Given the description of an element on the screen output the (x, y) to click on. 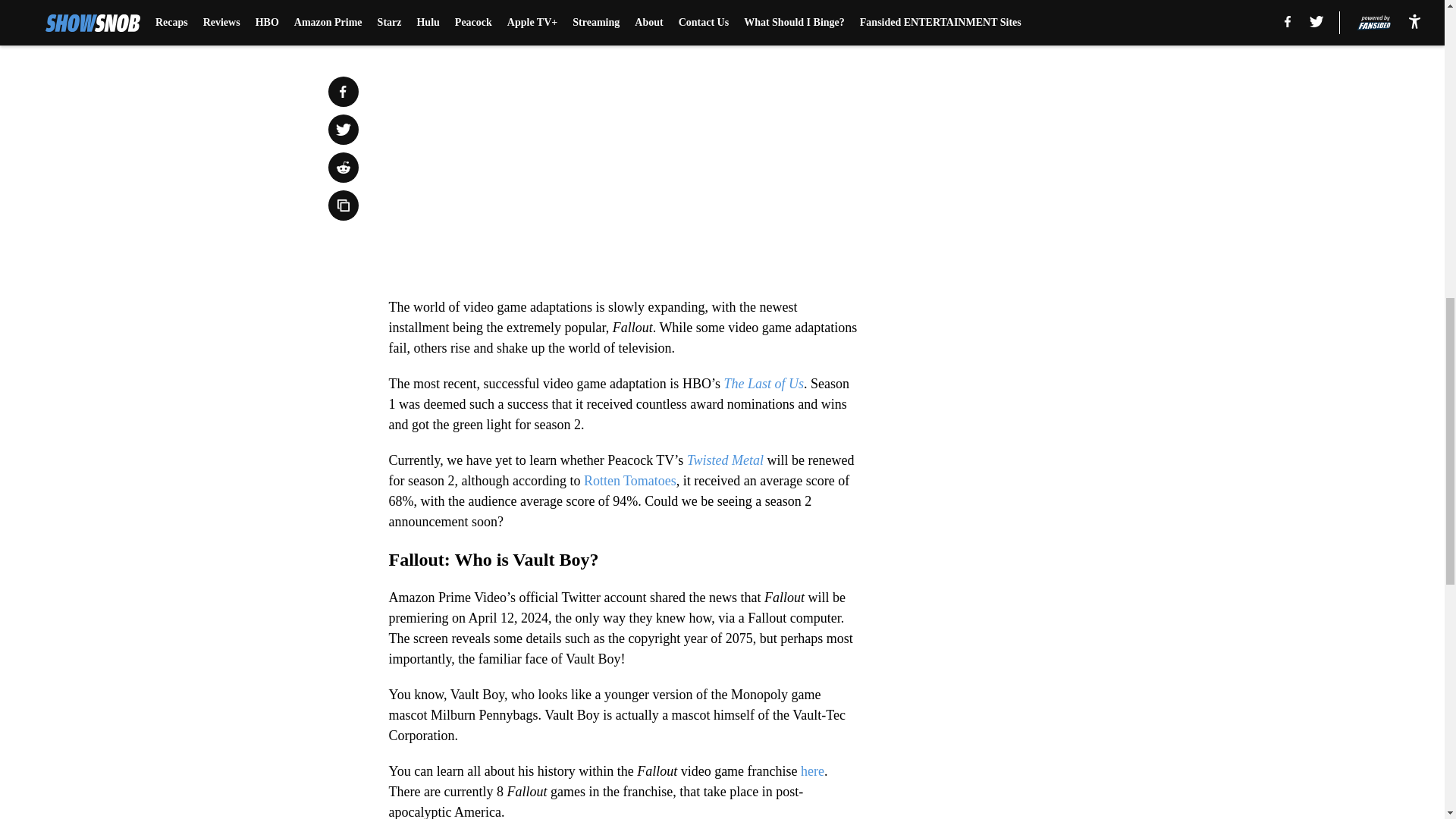
Twisted Metal (724, 459)
The Last of Us (763, 383)
here (810, 770)
Rotten Tomatoes (630, 480)
